Given the description of an element on the screen output the (x, y) to click on. 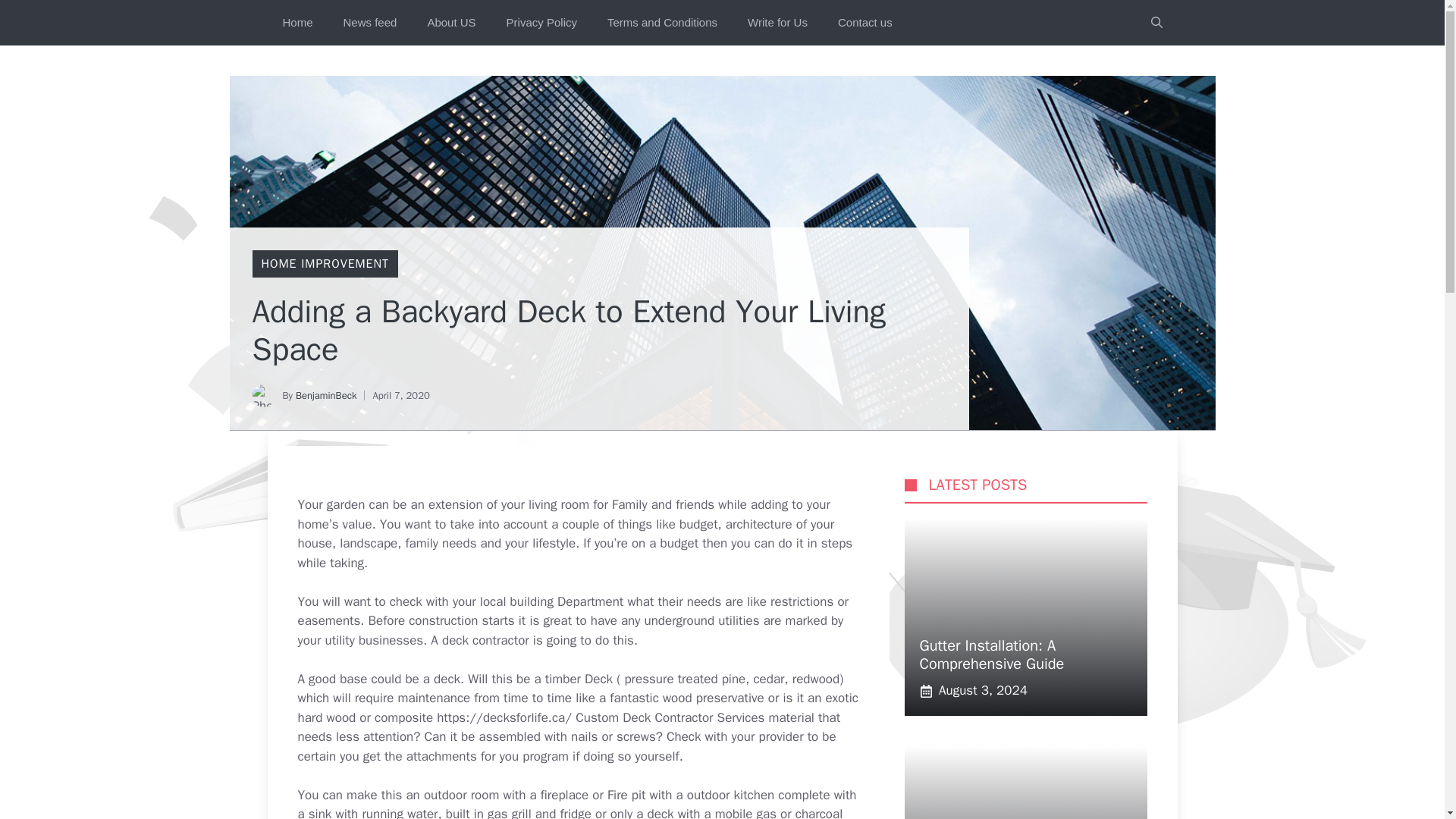
deck (660, 812)
Gutter Installation: A Comprehensive Guide (991, 654)
Home (296, 22)
BenjaminBeck (325, 395)
HOME IMPROVEMENT (324, 263)
Contact us (864, 22)
News feed (370, 22)
Write for Us (777, 22)
About US (451, 22)
Privacy Policy (542, 22)
Terms and Conditions (662, 22)
